Given the description of an element on the screen output the (x, y) to click on. 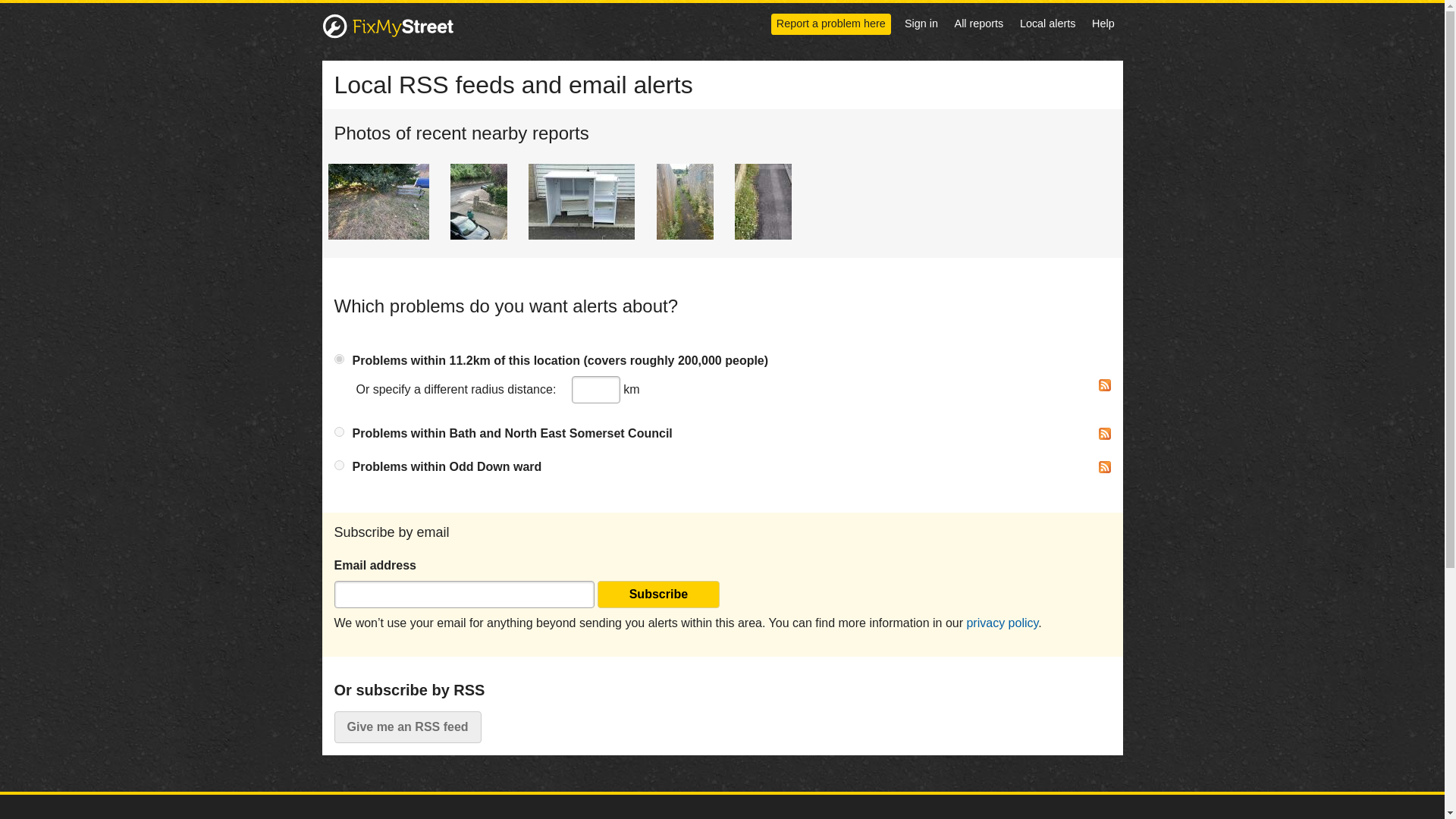
Subscribe (657, 594)
Give me an RSS feed (406, 726)
Give me an RSS feed (406, 726)
RSS feed of problems within Odd Down ward (1103, 467)
Subscribe (657, 594)
All reports (978, 23)
Local alerts (1047, 23)
Sign in (921, 23)
Help (1102, 23)
Fly tipping (377, 201)
